Given the description of an element on the screen output the (x, y) to click on. 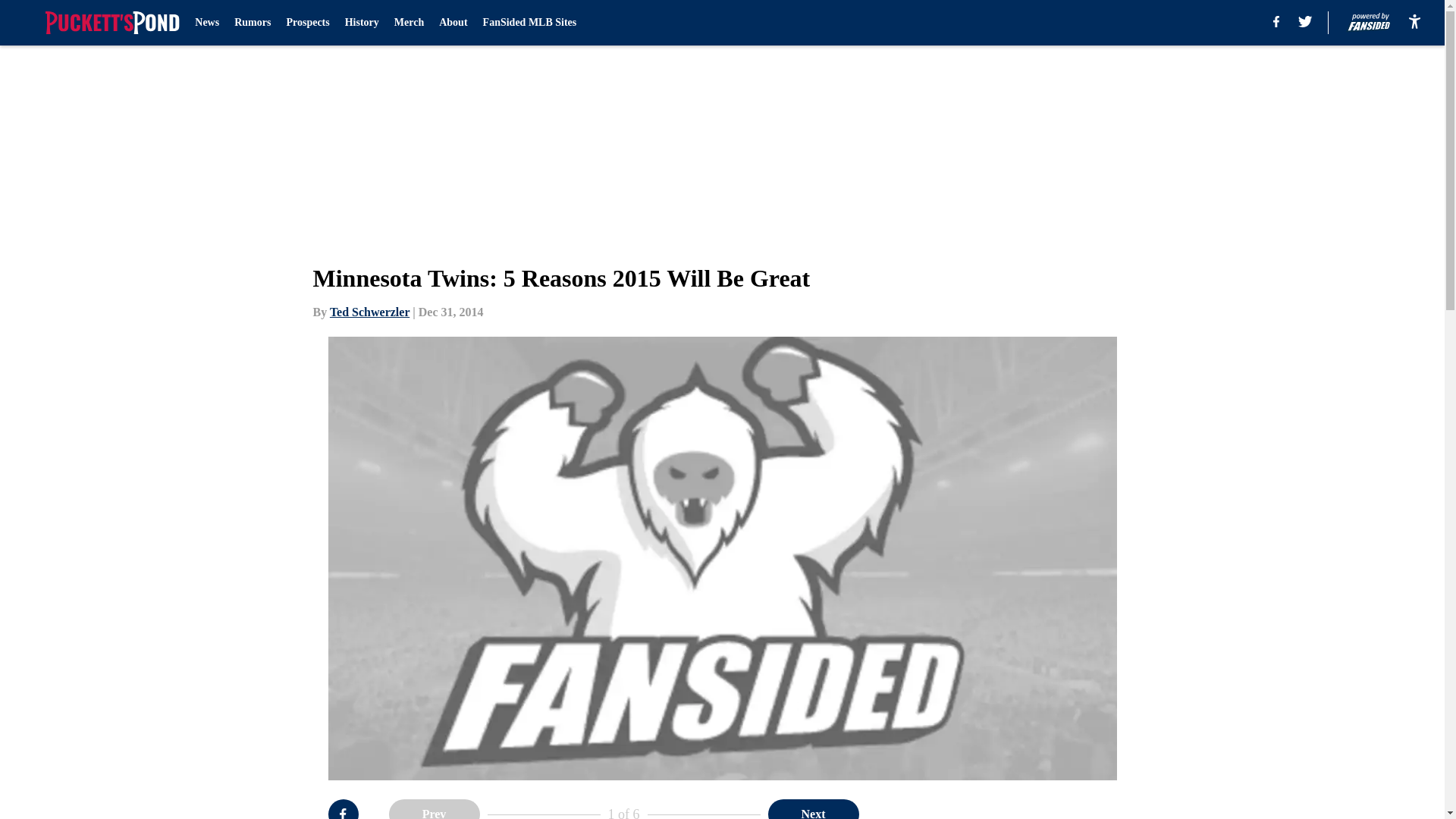
Merch (408, 22)
Prev (433, 809)
Ted Schwerzler (369, 311)
History (361, 22)
Next (813, 809)
Prospects (307, 22)
News (207, 22)
Rumors (252, 22)
FanSided MLB Sites (529, 22)
About (453, 22)
